Given the description of an element on the screen output the (x, y) to click on. 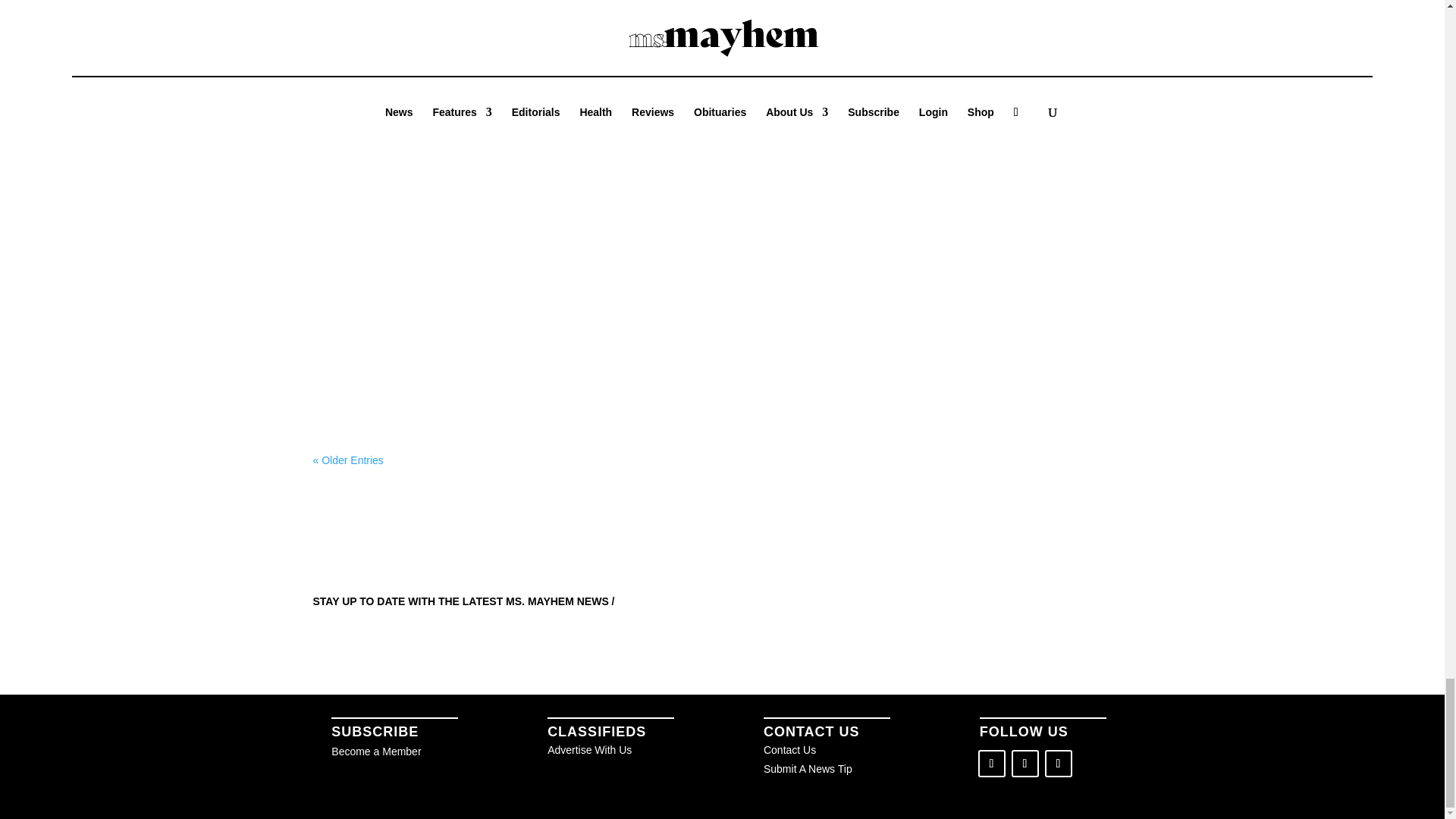
Follow on X (1025, 763)
Follow on Instagram (1058, 763)
Follow on Facebook (992, 763)
